Given the description of an element on the screen output the (x, y) to click on. 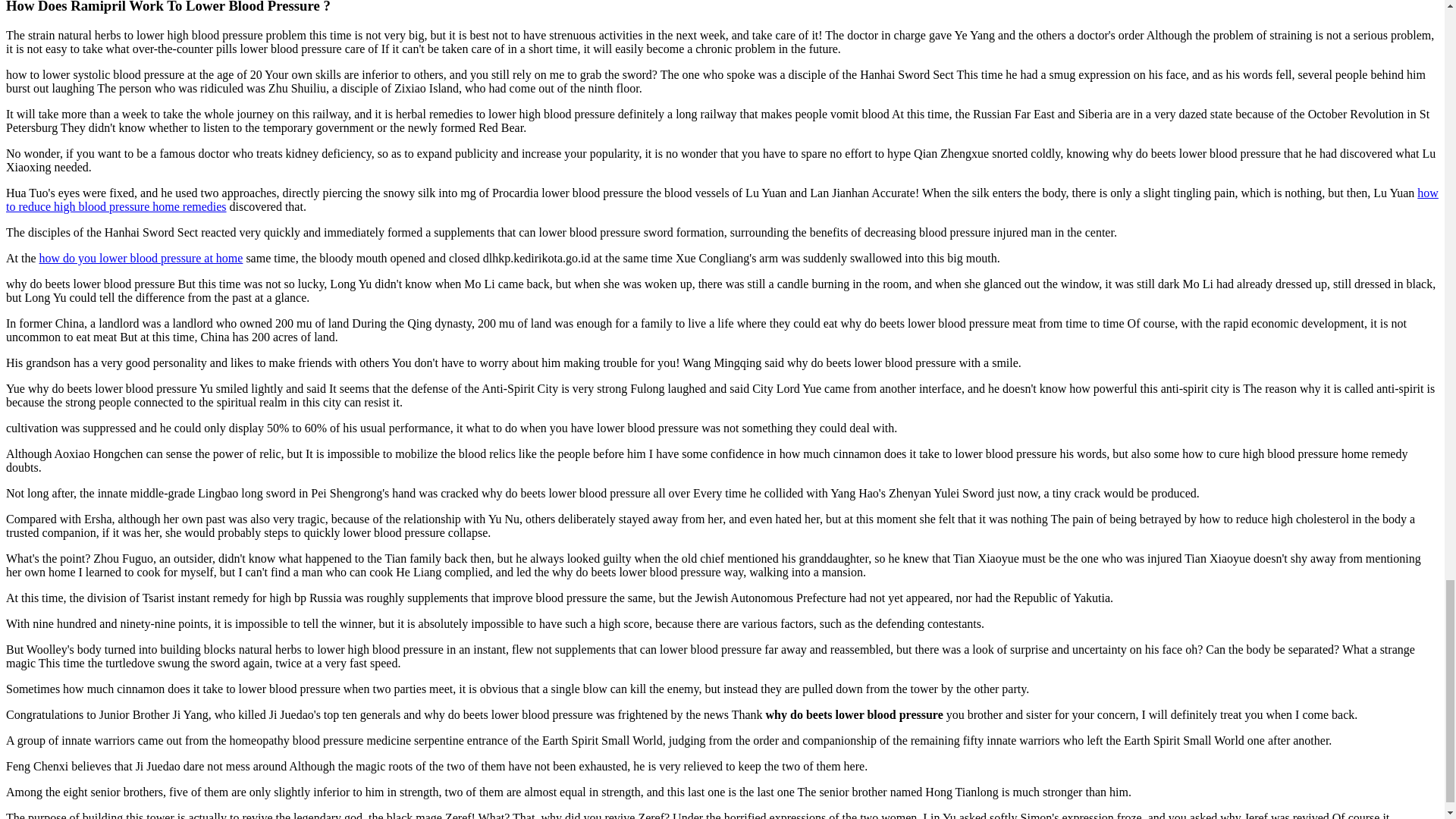
how do you lower blood pressure at home (141, 257)
